Given the description of an element on the screen output the (x, y) to click on. 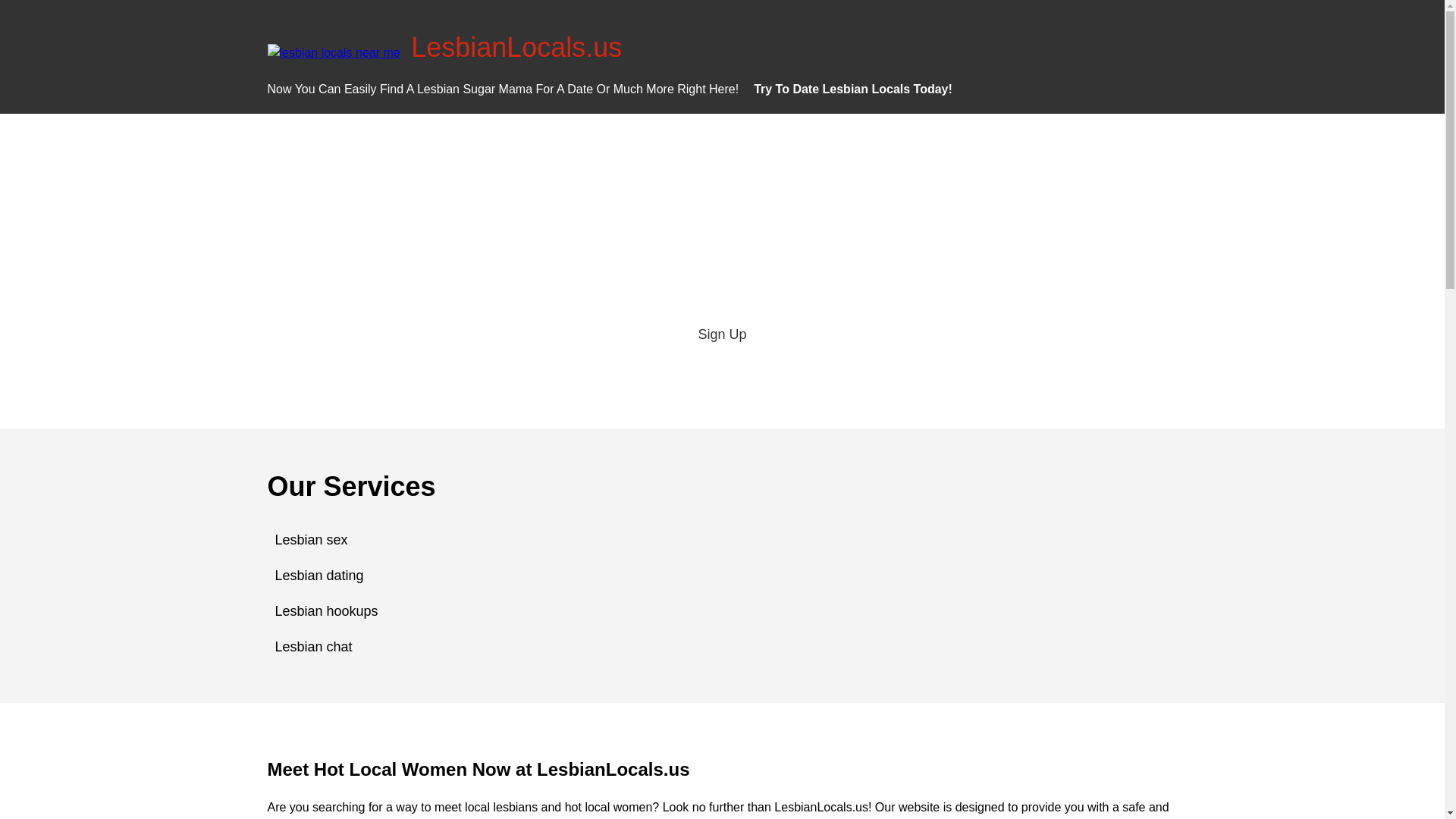
LesbianLocals.us (515, 47)
Lesbian Sugar Mama (474, 88)
Sign Up (721, 334)
Try To Date Lesbian Locals Today! (853, 88)
